Given the description of an element on the screen output the (x, y) to click on. 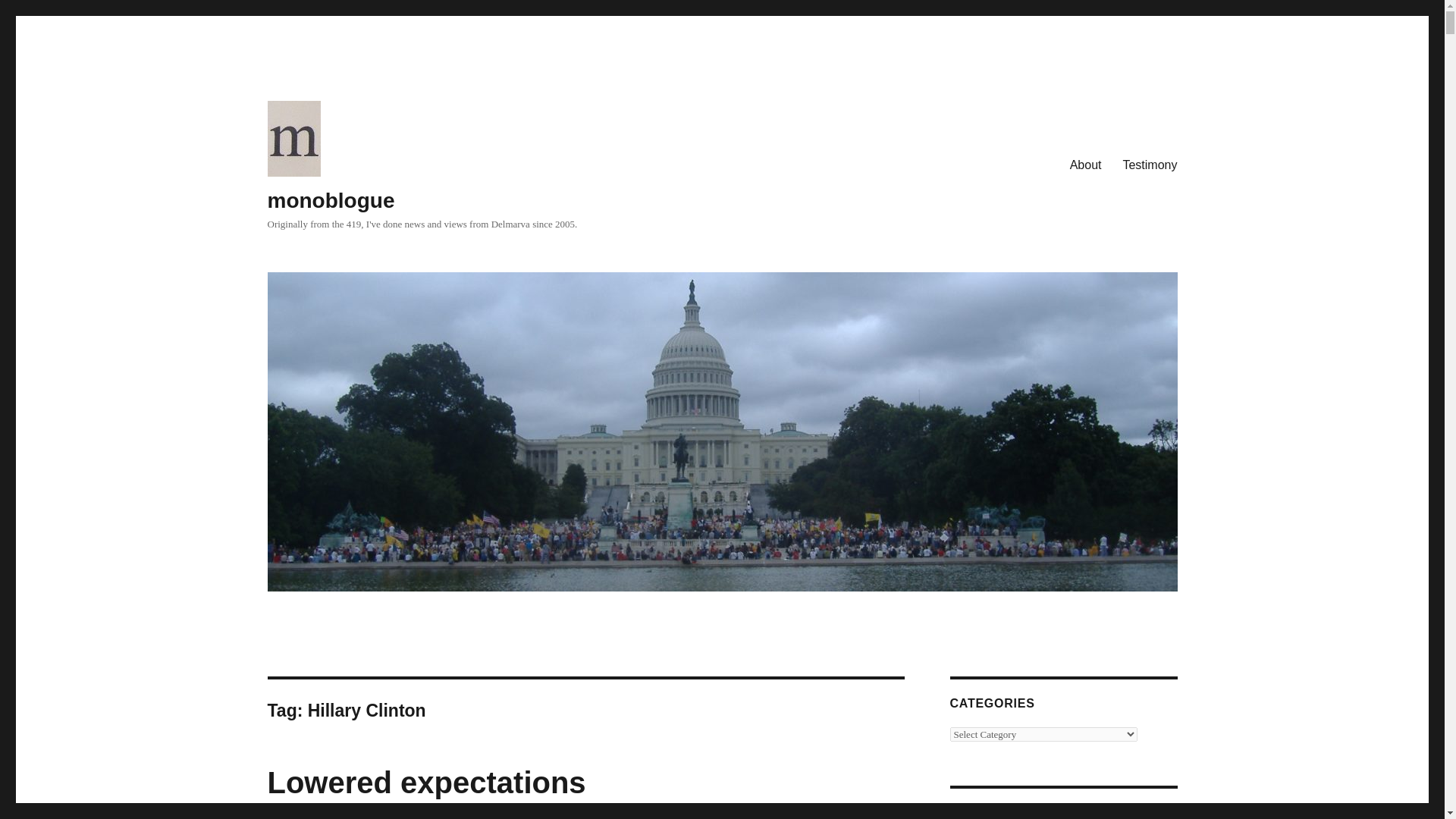
About (1085, 164)
monoblogue (330, 200)
Testimony (1150, 164)
Lowered expectations (425, 782)
